Given the description of an element on the screen output the (x, y) to click on. 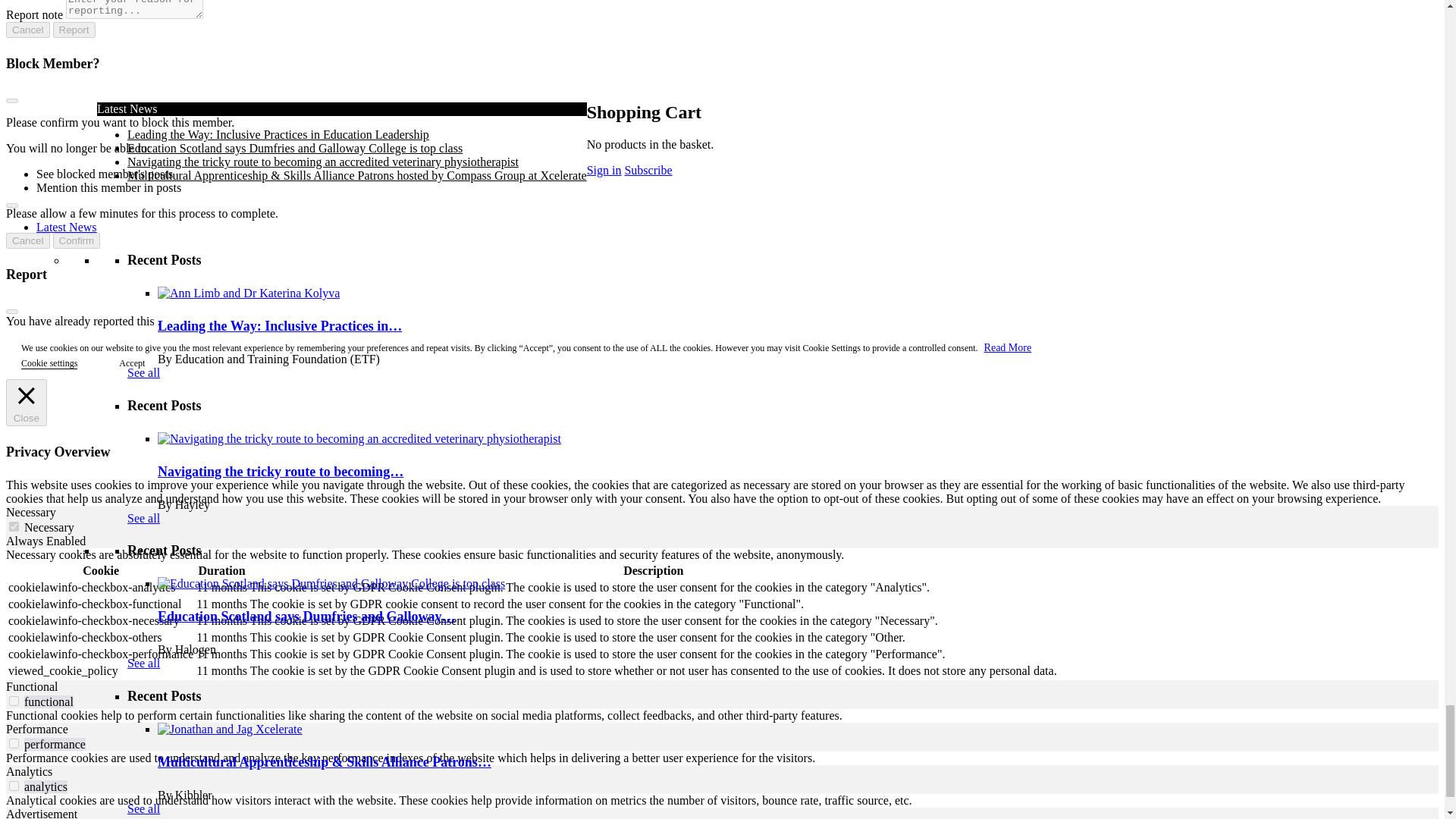
on (13, 526)
on (13, 700)
on (13, 743)
Cancel (27, 240)
on (13, 786)
Cancel (27, 29)
